Given the description of an element on the screen output the (x, y) to click on. 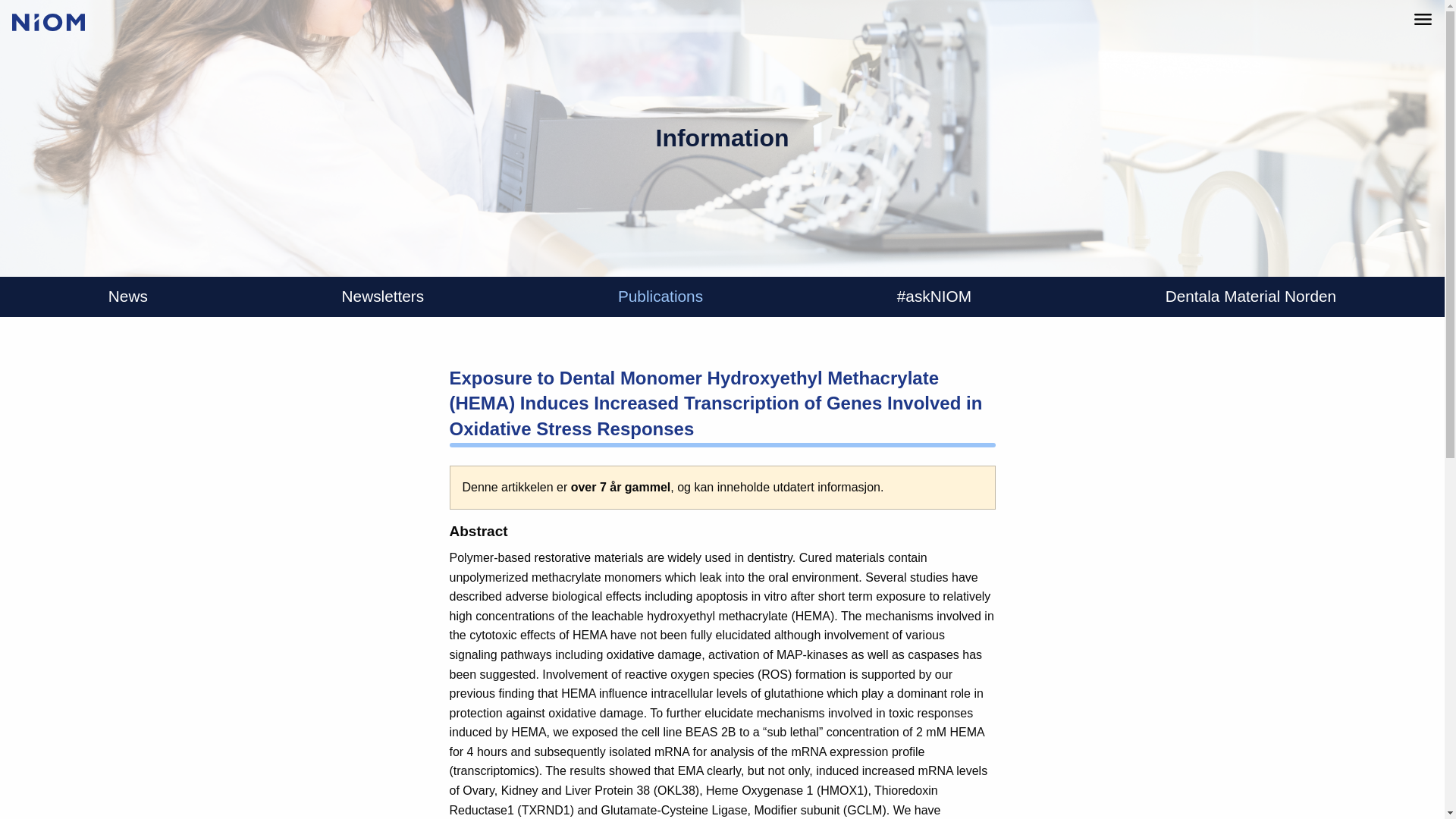
Dentala Material Norden (1250, 296)
Publications (659, 296)
Newsletters (383, 296)
News (128, 296)
